Given the description of an element on the screen output the (x, y) to click on. 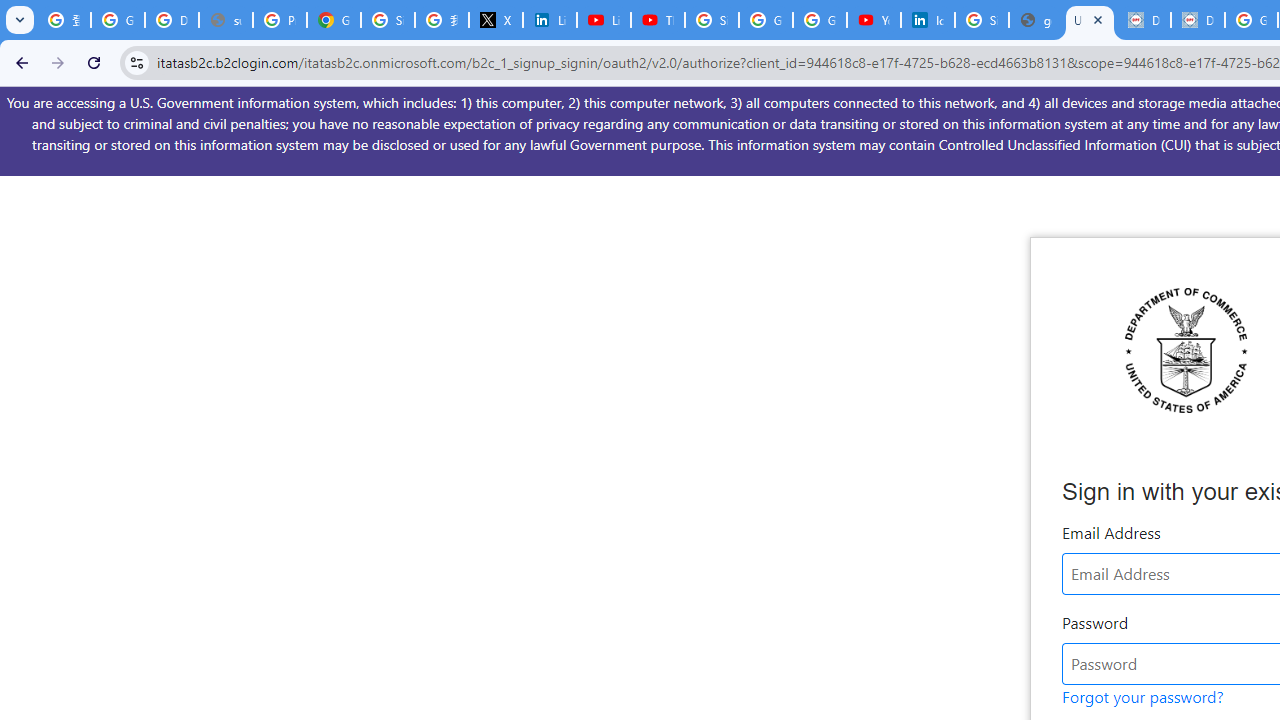
Data Privacy Framework (1144, 20)
Forgot your password? (1142, 696)
google_privacy_policy_en.pdf (1035, 20)
